Given the description of an element on the screen output the (x, y) to click on. 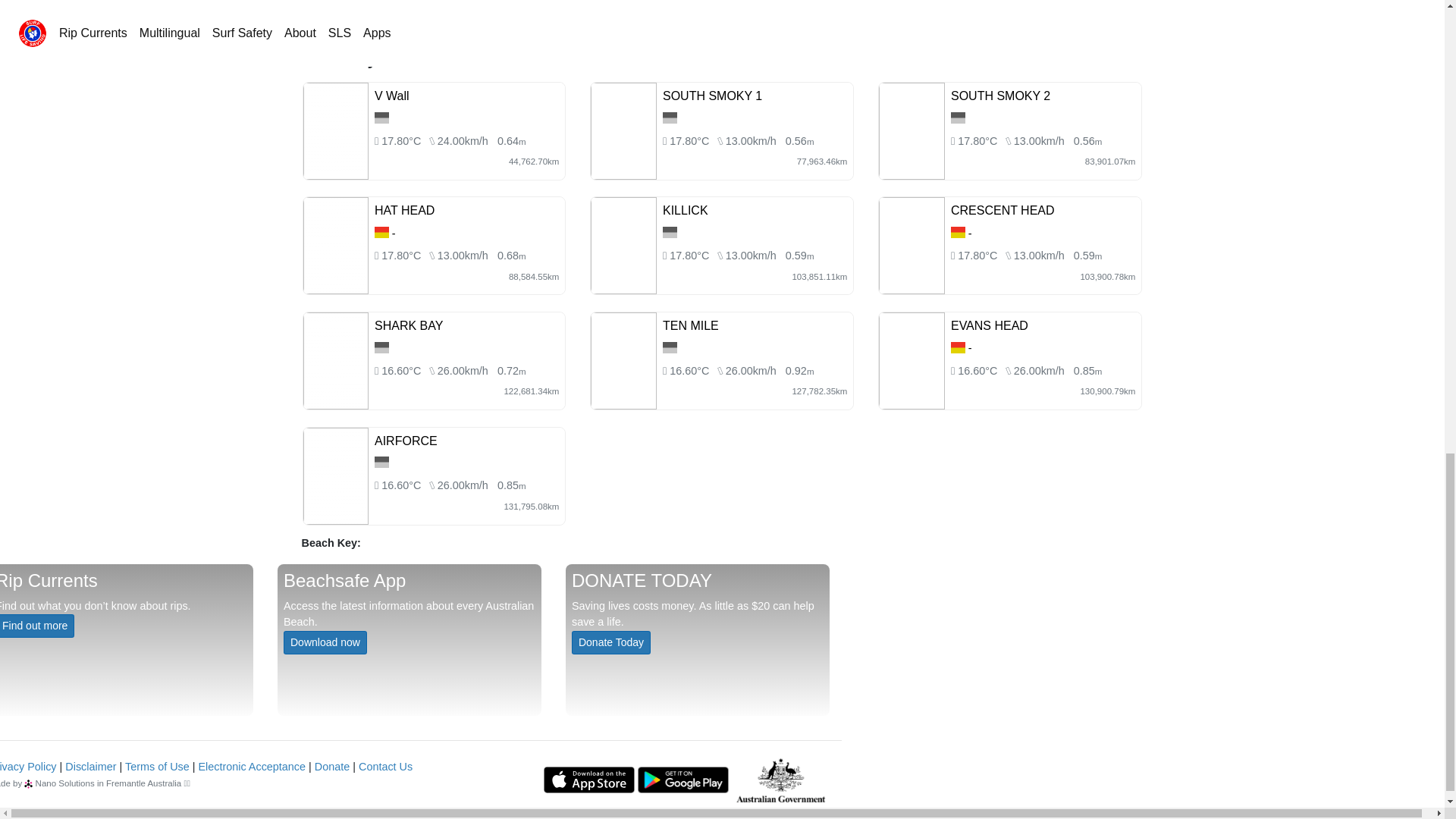
Donate (331, 766)
Swell (1088, 141)
Wind Speed (462, 141)
Sunny. (401, 255)
Sunny. (689, 255)
Privacy Policy (28, 766)
Terms of Use (157, 766)
Wind Speed (750, 141)
Swell (799, 141)
Wind Speed (462, 255)
Find out more (37, 626)
Swell (511, 141)
Electronic Acceptance (251, 766)
Sunny. (401, 141)
Contact Us (385, 766)
